Given the description of an element on the screen output the (x, y) to click on. 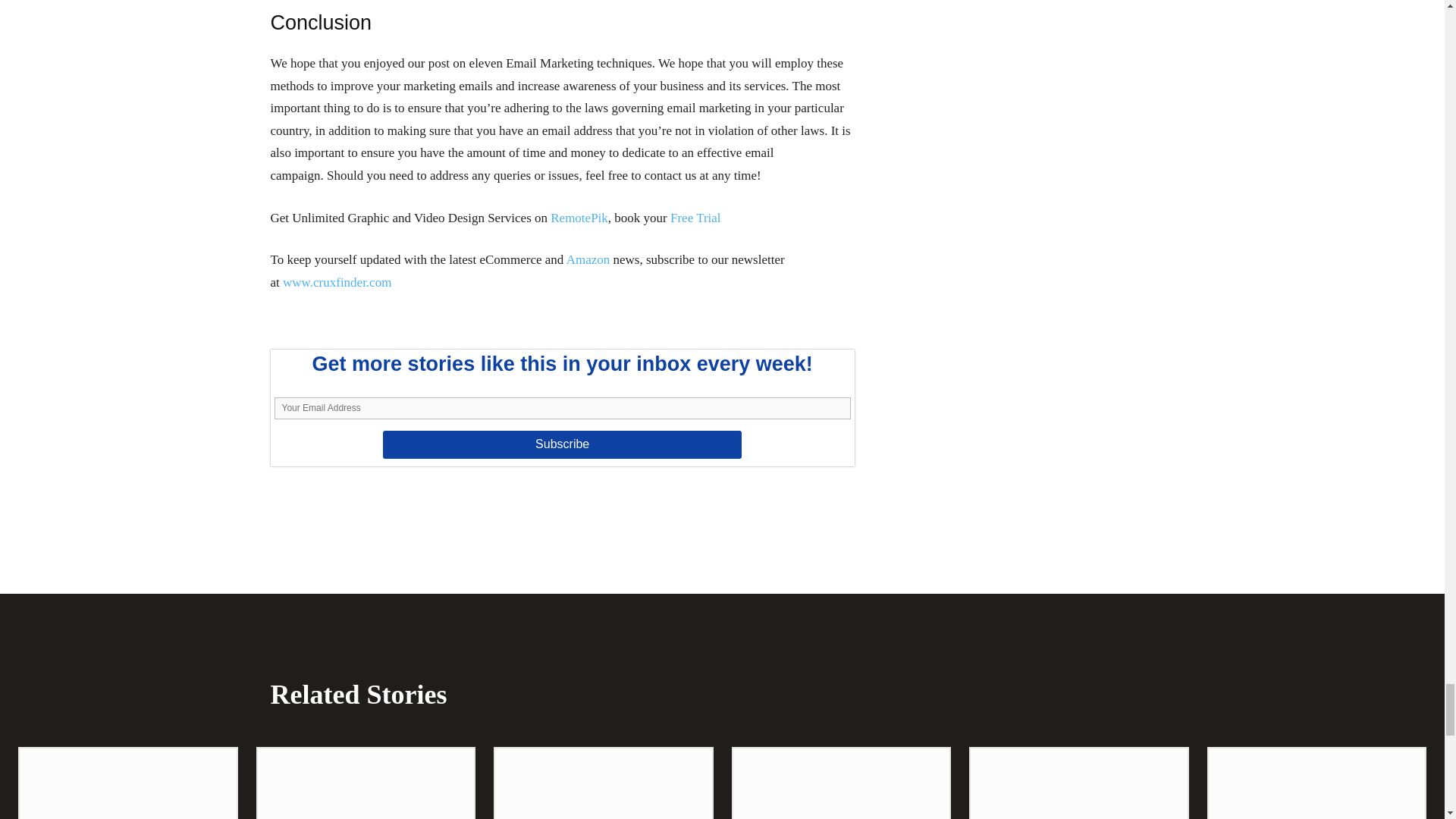
Subscribe (561, 444)
